Given the description of an element on the screen output the (x, y) to click on. 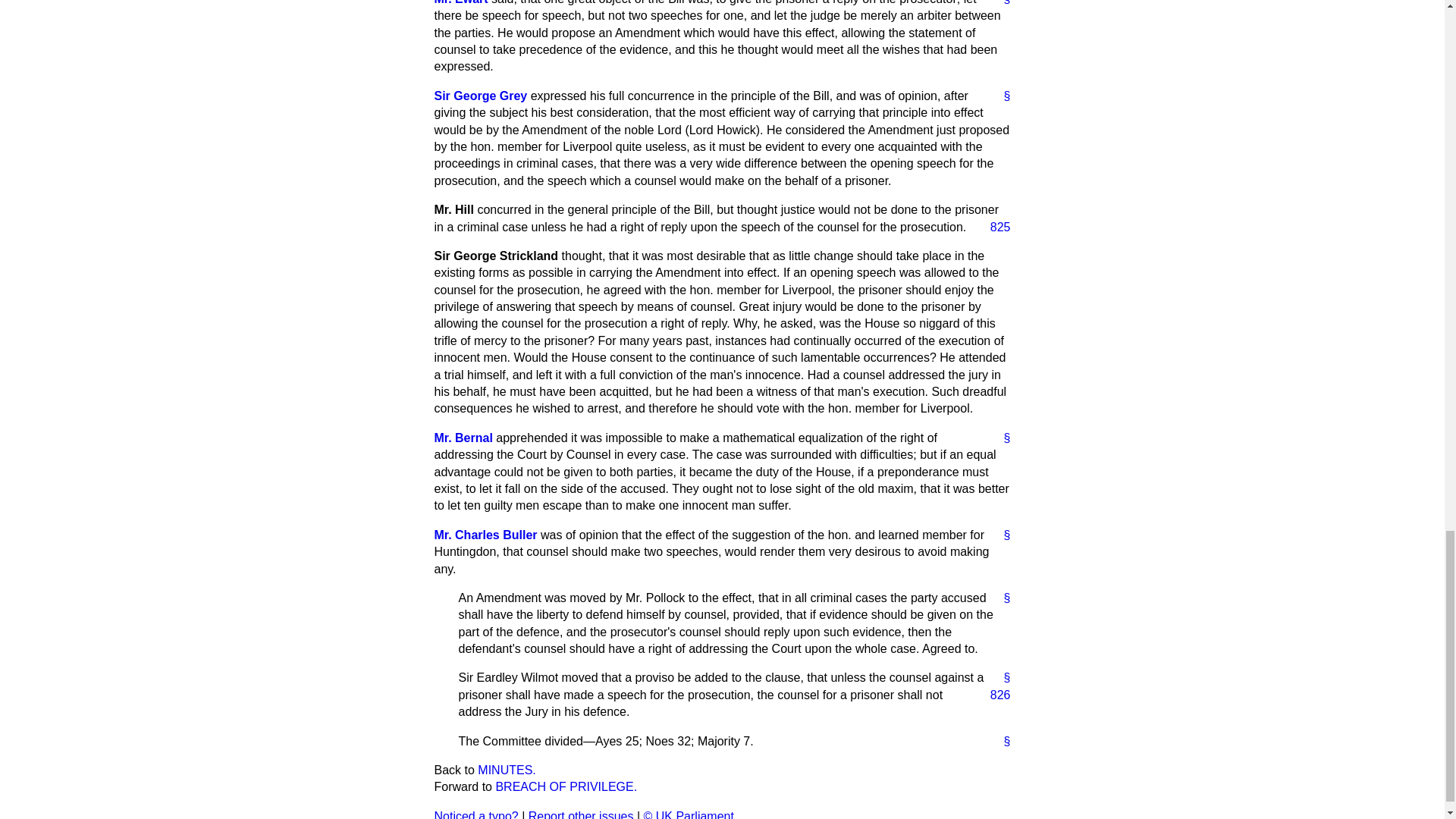
Link to this speech by Sir George Grey (1000, 95)
Sir George Grey (480, 95)
Link to this speech by Mr William Ewart (1000, 3)
Mr William Ewart (460, 2)
825 (994, 227)
Mr. Ewart (460, 2)
